Given the description of an element on the screen output the (x, y) to click on. 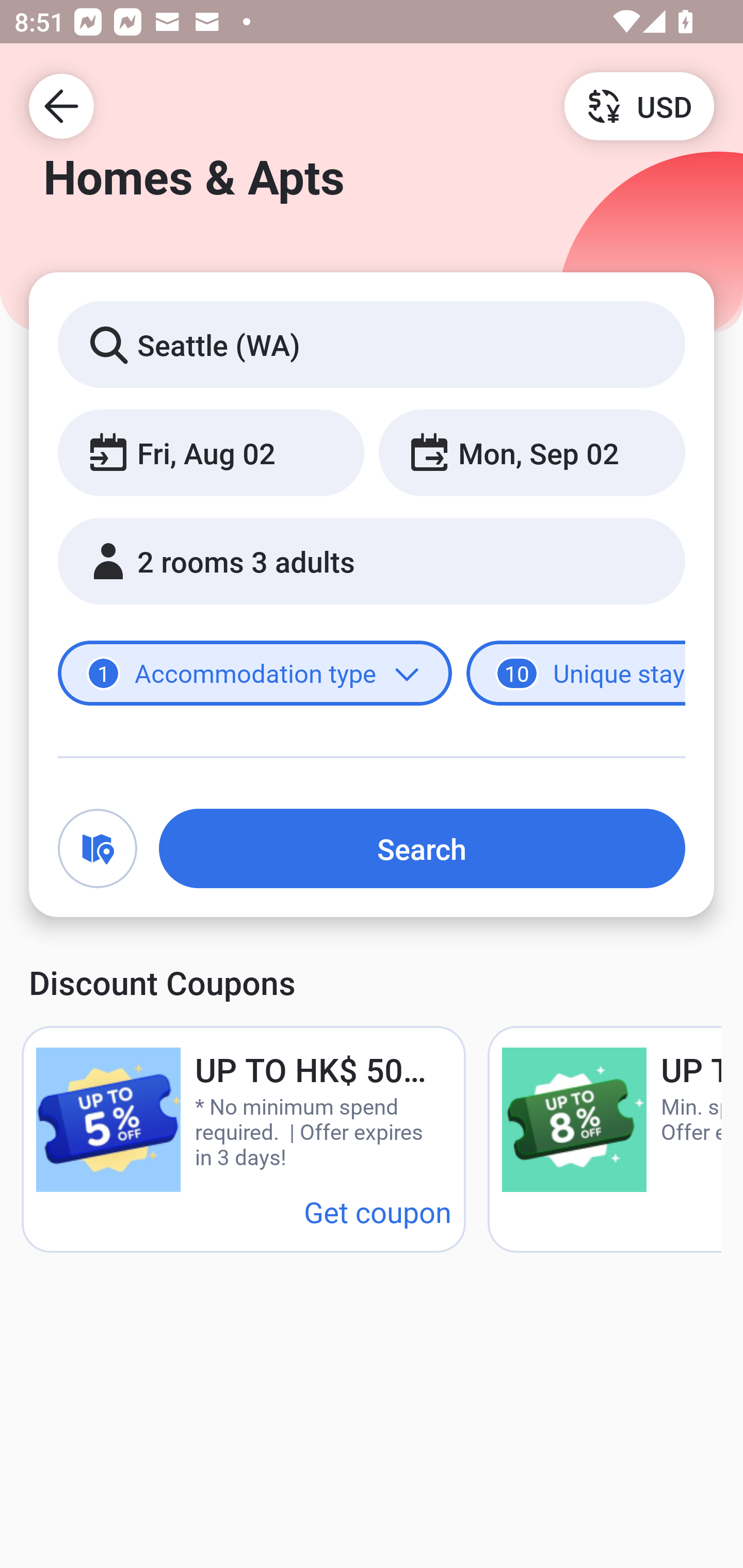
USD (639, 105)
Seattle (WA) (371, 344)
Fri, Aug 02 (210, 452)
Mon, Sep 02 (531, 452)
2 rooms 3 adults (371, 561)
1 Accommodation type (254, 673)
10 Unique stays (575, 673)
Search (422, 848)
Get coupon (377, 1211)
